Given the description of an element on the screen output the (x, y) to click on. 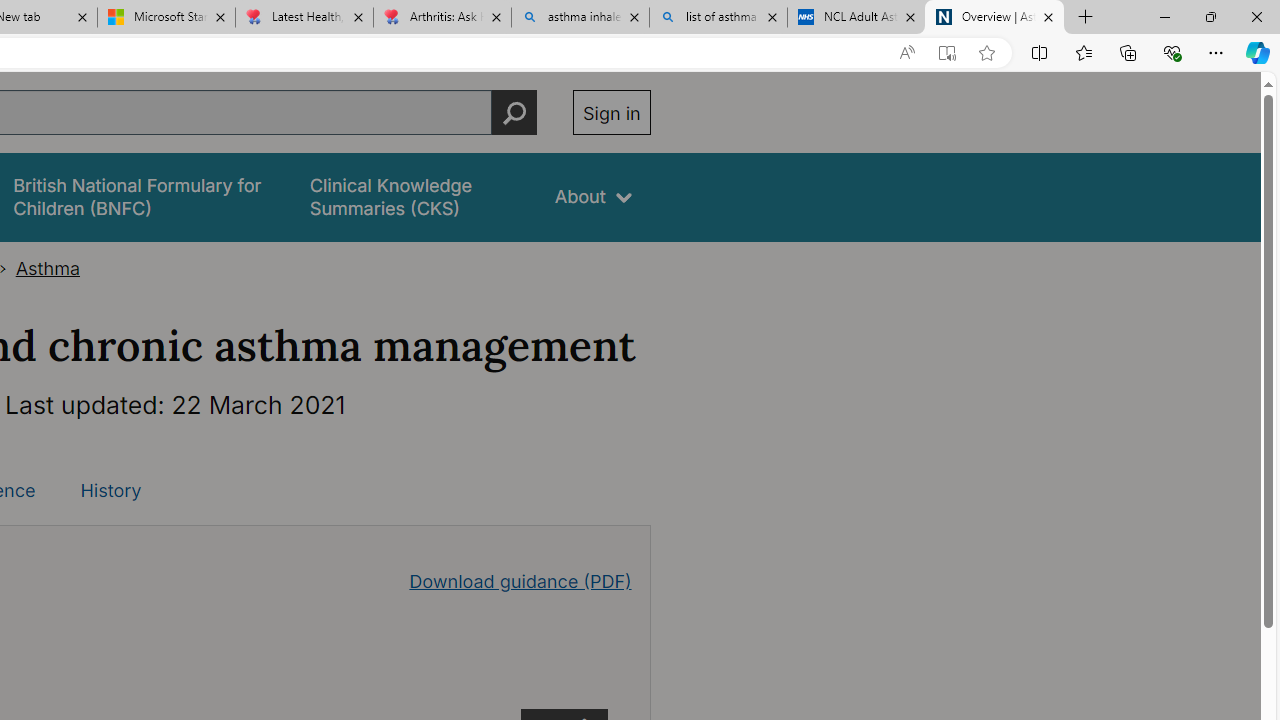
asthma inhaler - Search (580, 17)
